Given the description of an element on the screen output the (x, y) to click on. 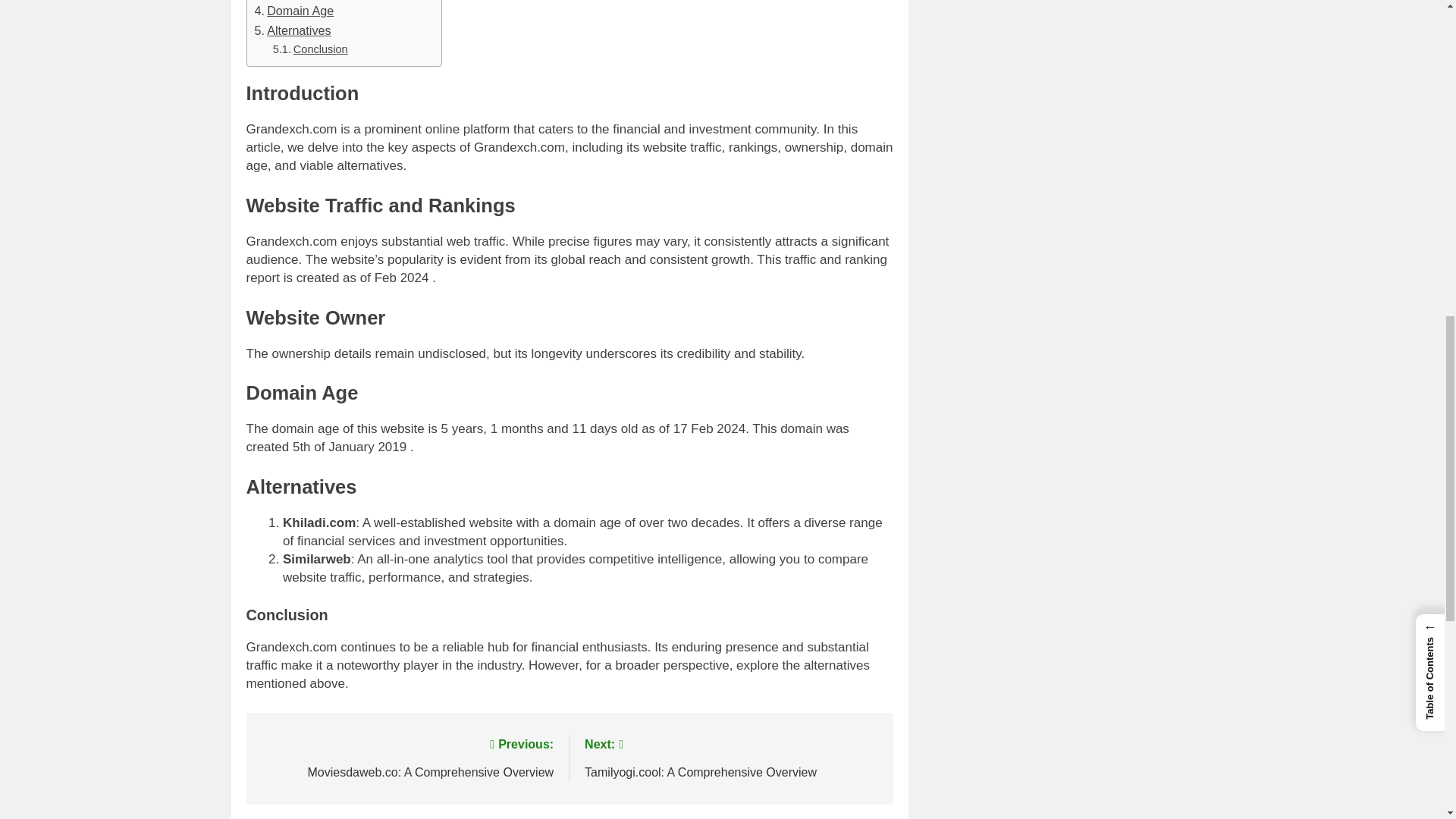
Alternatives (292, 30)
Website Owner (302, 0)
Conclusion (310, 49)
Domain Age (294, 11)
